Given the description of an element on the screen output the (x, y) to click on. 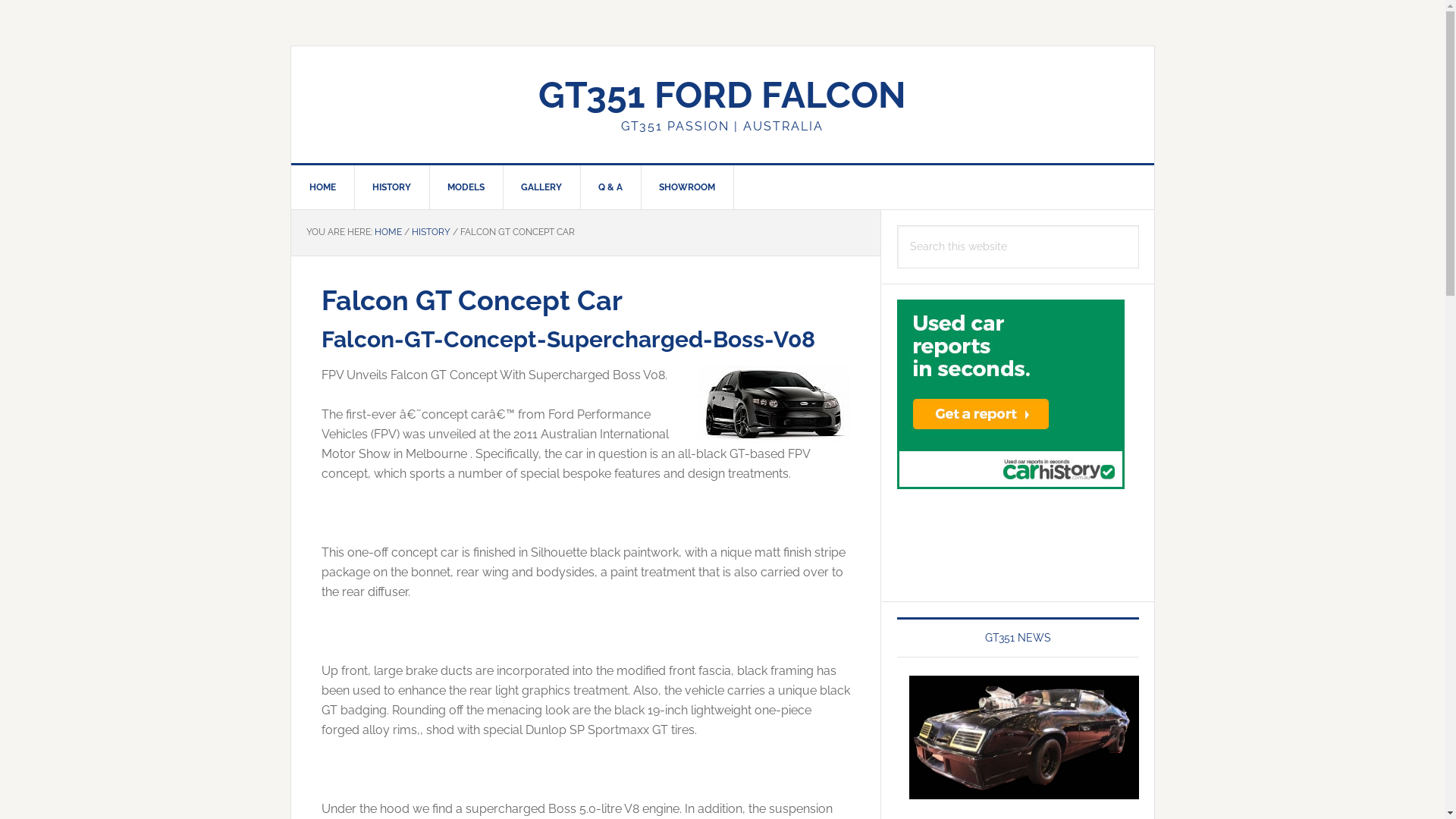
HISTORY Element type: text (391, 187)
SHOWROOM Element type: text (686, 187)
Search Element type: text (1139, 224)
HOME Element type: text (387, 231)
Skip to primary navigation Element type: text (0, 0)
HOME Element type: text (322, 187)
MODELS Element type: text (466, 187)
GT351 FORD FALCON Element type: text (722, 94)
Q & A Element type: text (609, 187)
GALLERY Element type: text (541, 187)
HISTORY Element type: text (430, 231)
